Given the description of an element on the screen output the (x, y) to click on. 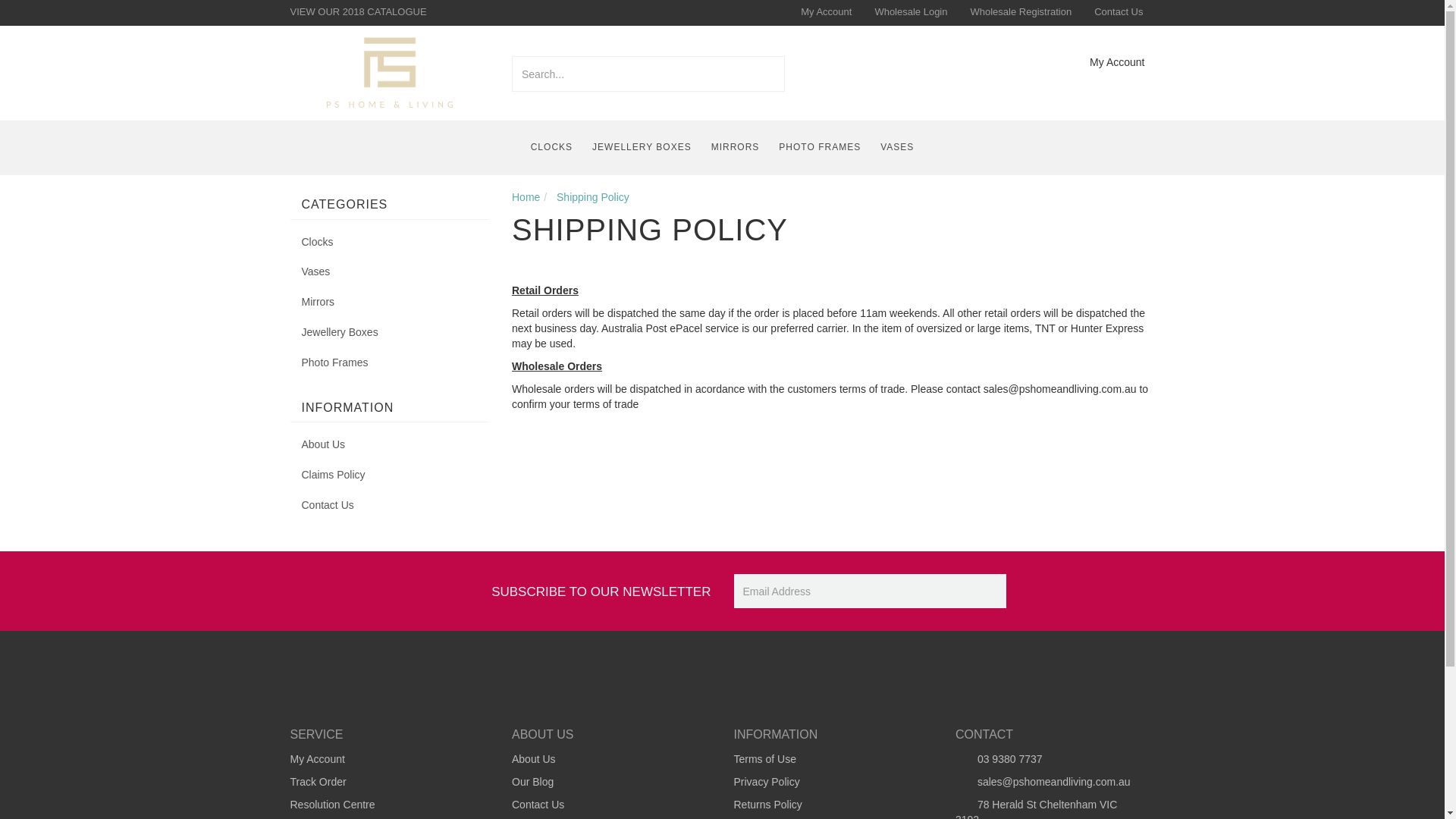
VIEW OUR 2018 CATALOGUE (358, 11)
Mirrors (389, 302)
CLOCKS (551, 147)
Clocks (389, 242)
JEWELLERY BOXES (641, 147)
VASES (896, 147)
My Account (1105, 62)
Contact Us (1118, 11)
Wholesale Registration (1020, 11)
PS Home and Living (389, 71)
Wholesale Login (910, 11)
My Account (826, 11)
Vases (389, 272)
MIRRORS (735, 147)
PHOTO FRAMES (819, 147)
